Given the description of an element on the screen output the (x, y) to click on. 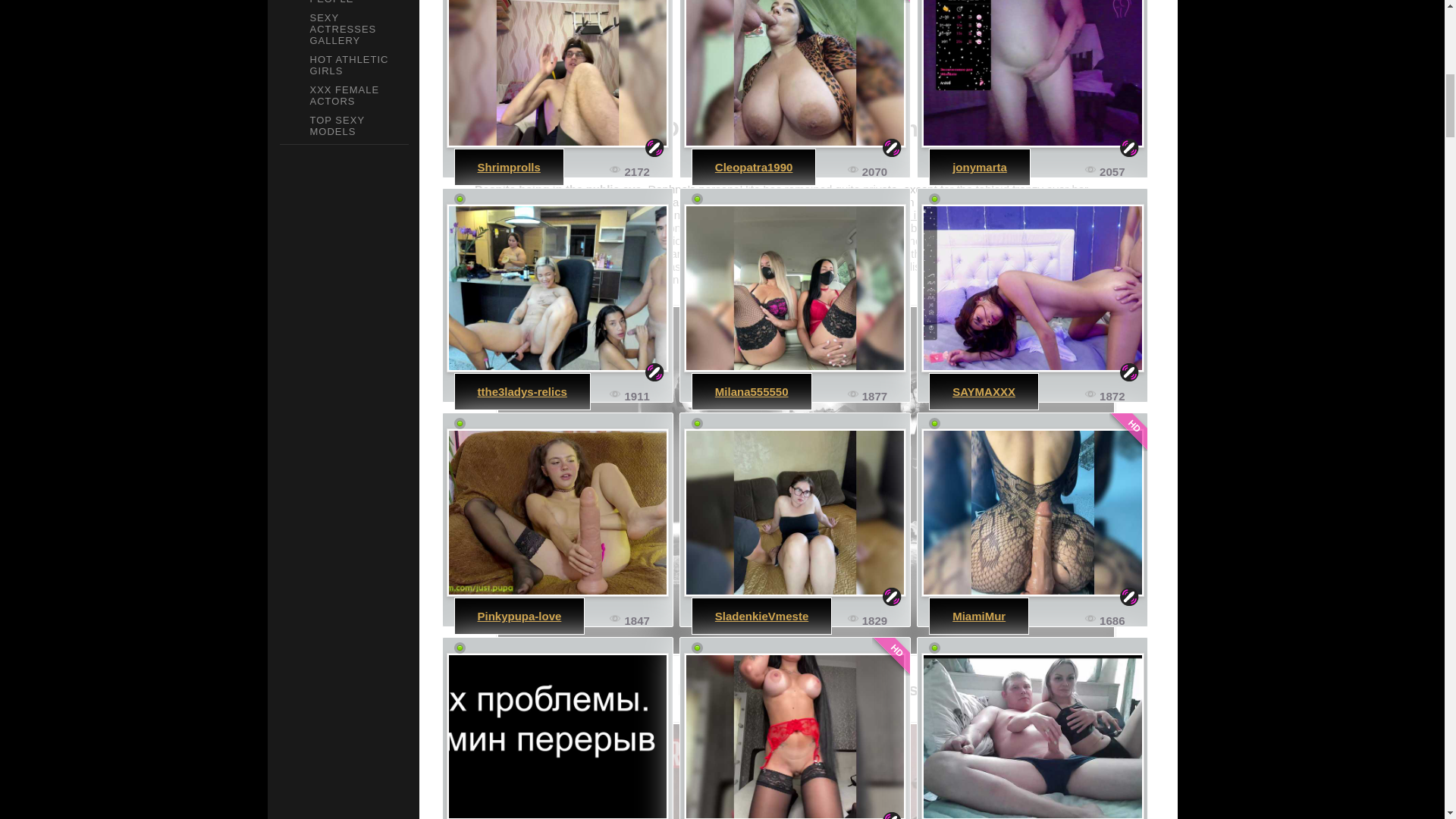
tthe3ladys-relics (522, 391)
SladenkieVmeste (761, 615)
SAYMAXXX (983, 391)
jonymarta (1031, 74)
Shrimprolls (556, 74)
Cleopatra1990 (794, 74)
Cleopatra1990 (753, 166)
Pinkypupa-love (519, 615)
Daphne Duplaix no panties 96 (805, 770)
jonymarta (979, 166)
MiamiMur (979, 615)
Shrimprolls (508, 166)
Milana555550 (751, 391)
